Given the description of an element on the screen output the (x, y) to click on. 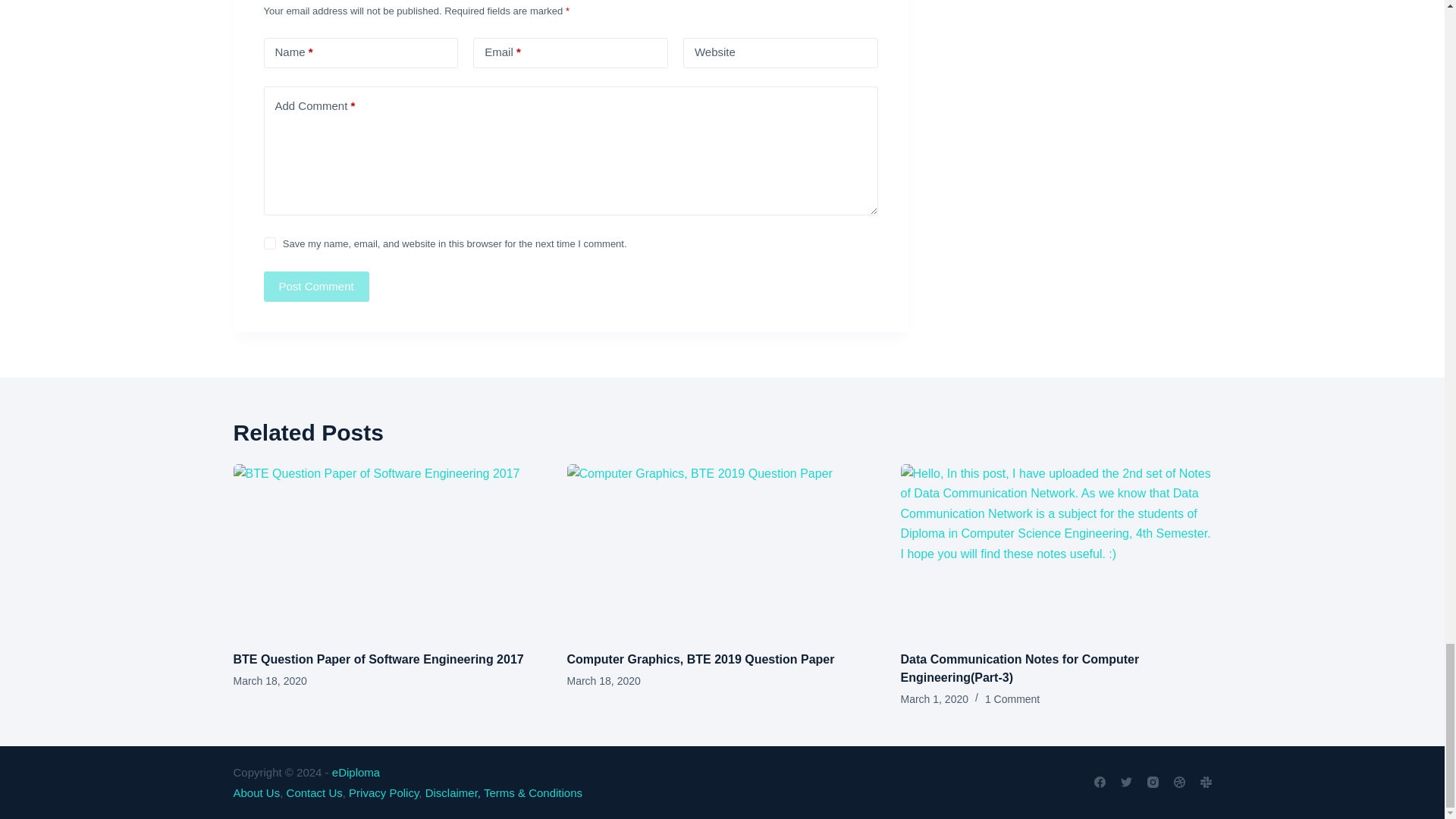
yes (269, 243)
